Given the description of an element on the screen output the (x, y) to click on. 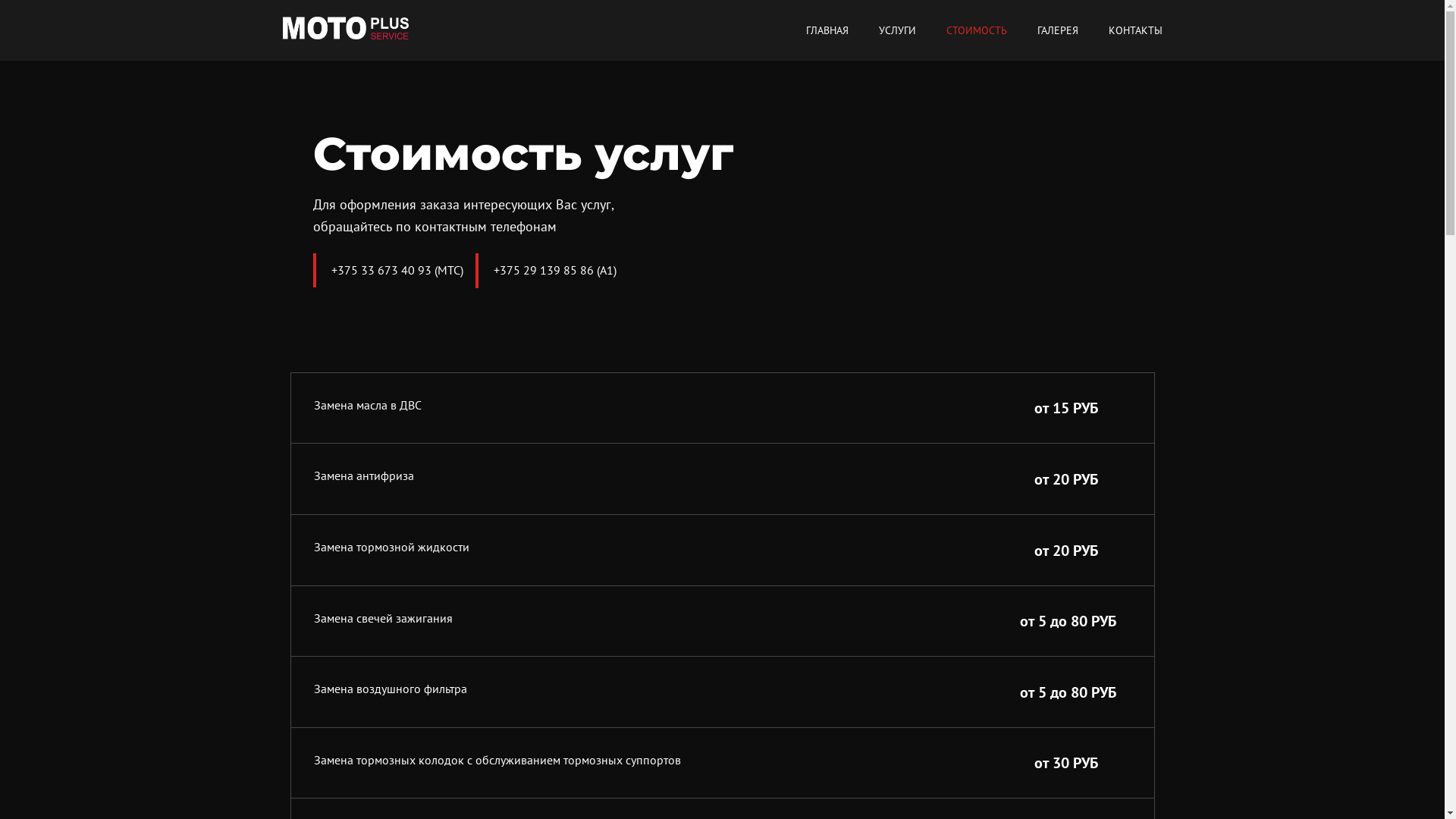
+375 29 139 85 86 (A1) Element type: text (553, 269)
